Given the description of an element on the screen output the (x, y) to click on. 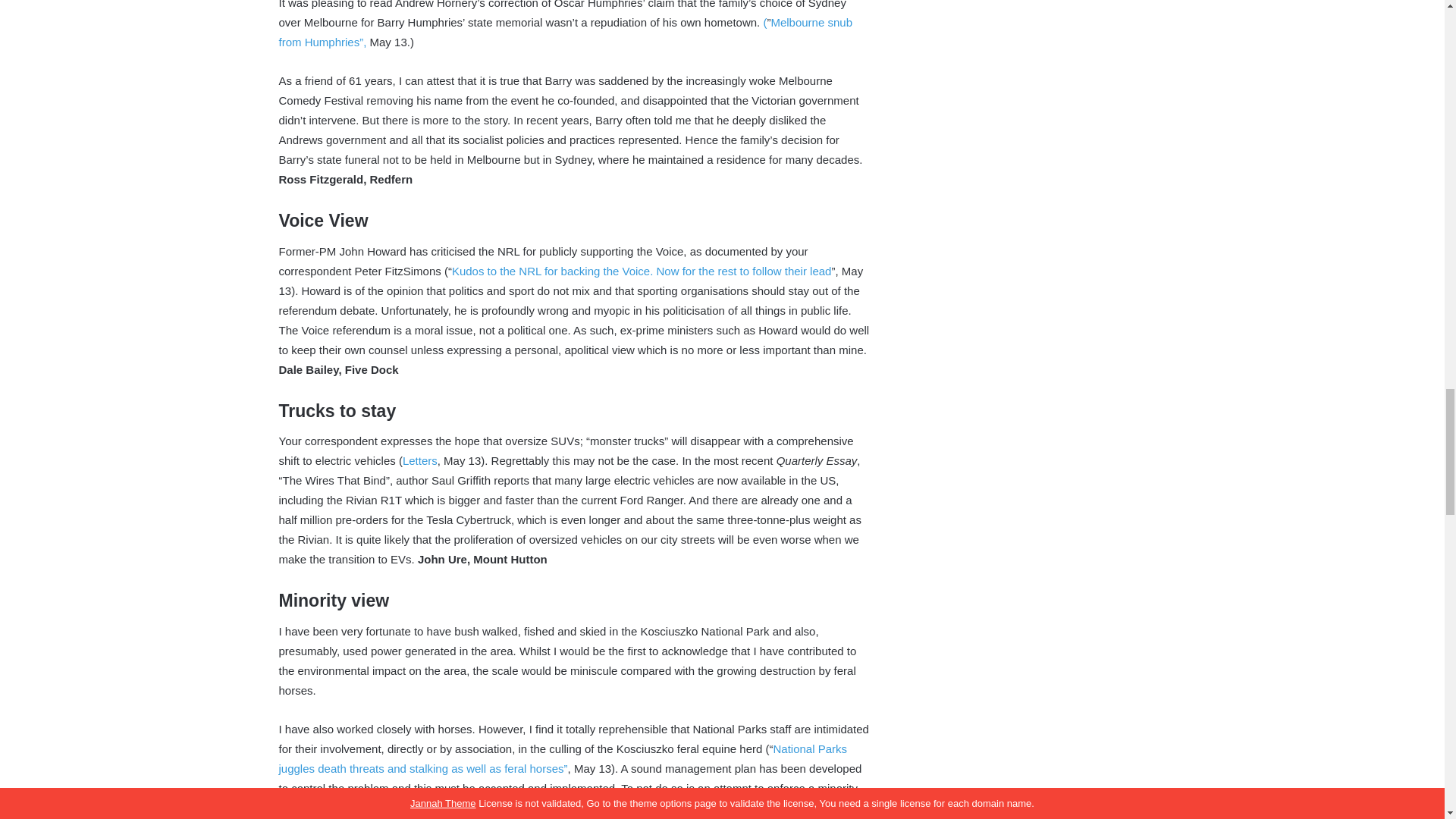
Letters (420, 460)
